Given the description of an element on the screen output the (x, y) to click on. 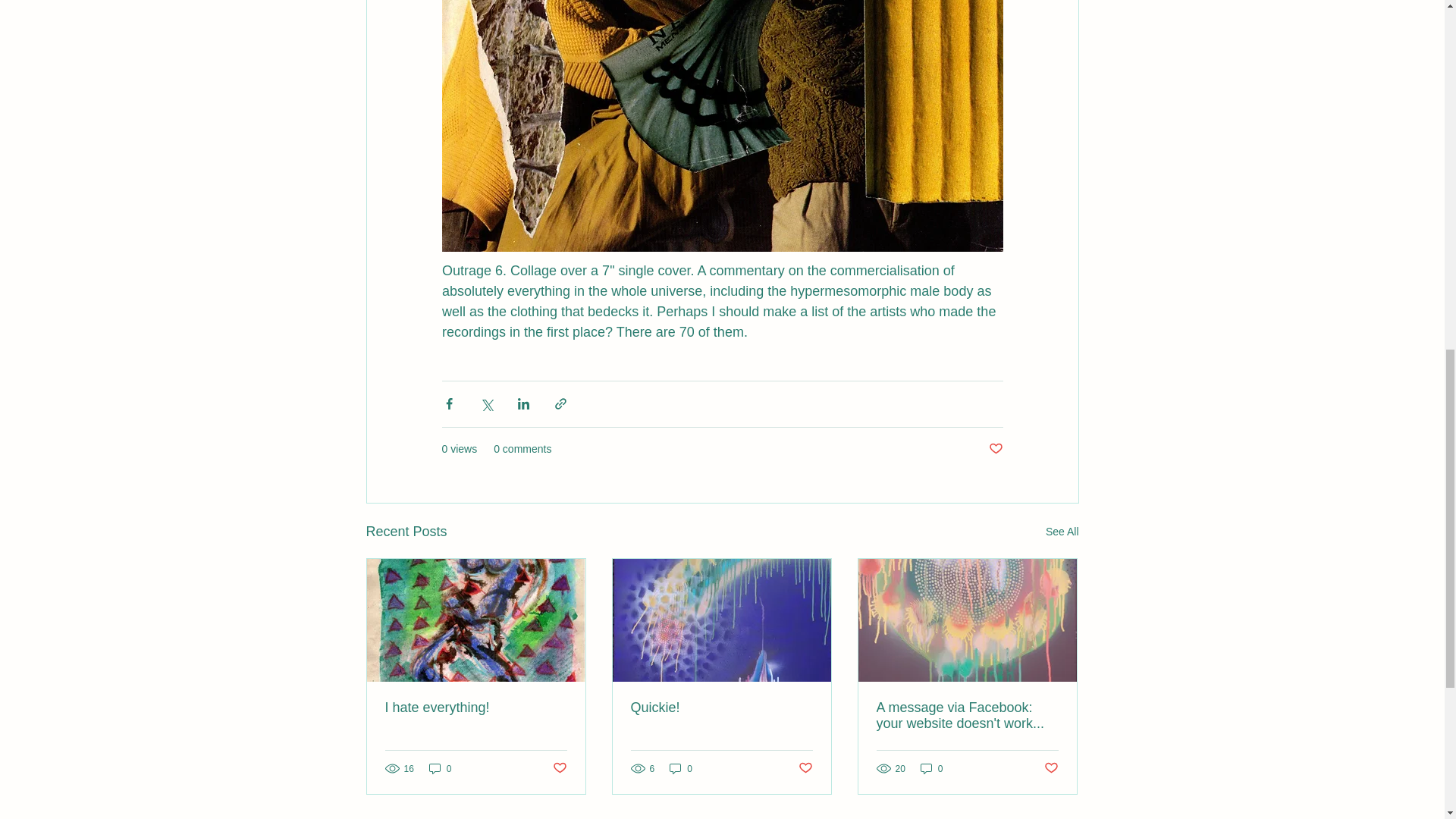
Post not marked as liked (804, 768)
0 (681, 768)
Post not marked as liked (995, 449)
I hate everything! (476, 707)
Quickie! (721, 707)
0 (931, 768)
0 (440, 768)
See All (1061, 531)
A message via Facebook: your website doesn't work... (967, 716)
Post not marked as liked (558, 768)
